Given the description of an element on the screen output the (x, y) to click on. 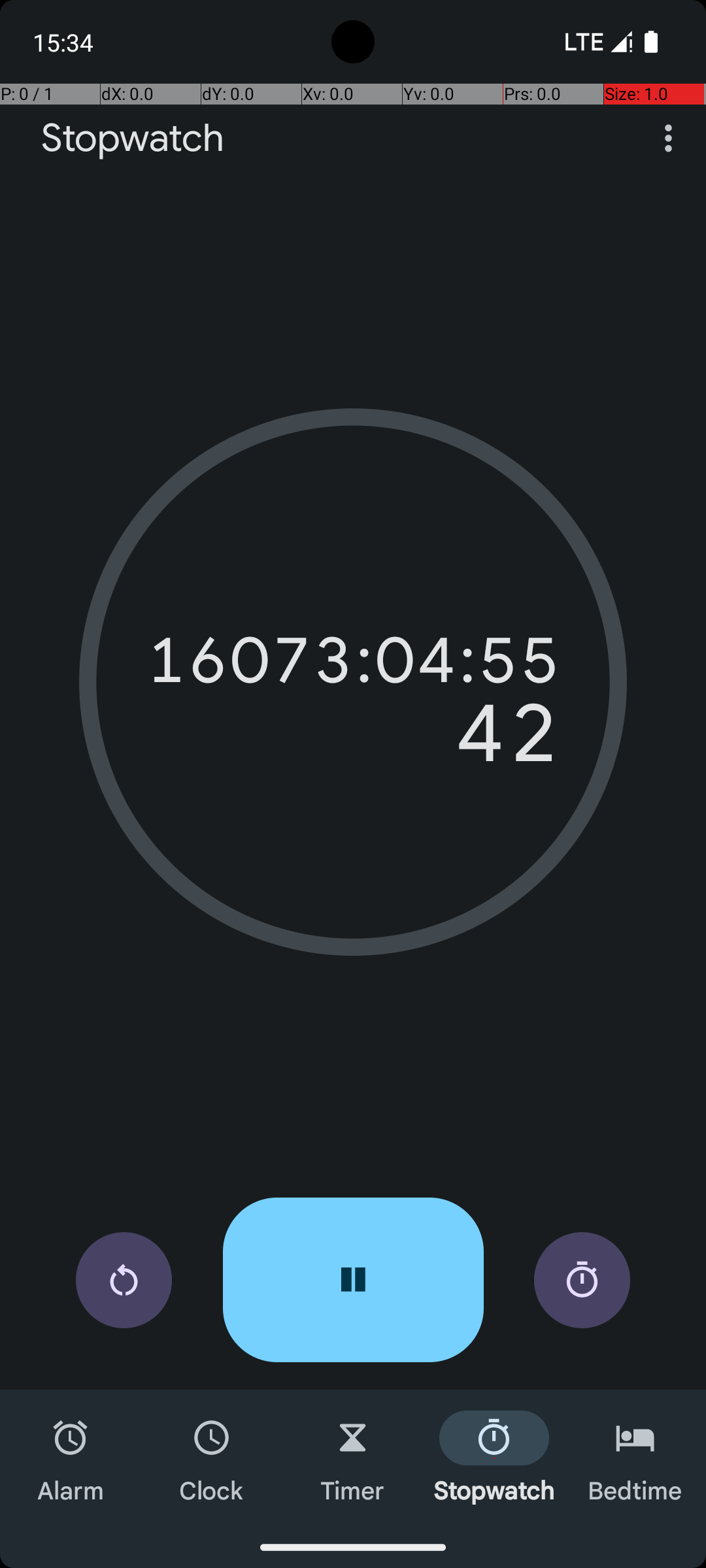
Lap Element type: android.widget.ImageButton (582, 1280)
16073:04:46 Element type: android.widget.TextView (352, 659)
